Given the description of an element on the screen output the (x, y) to click on. 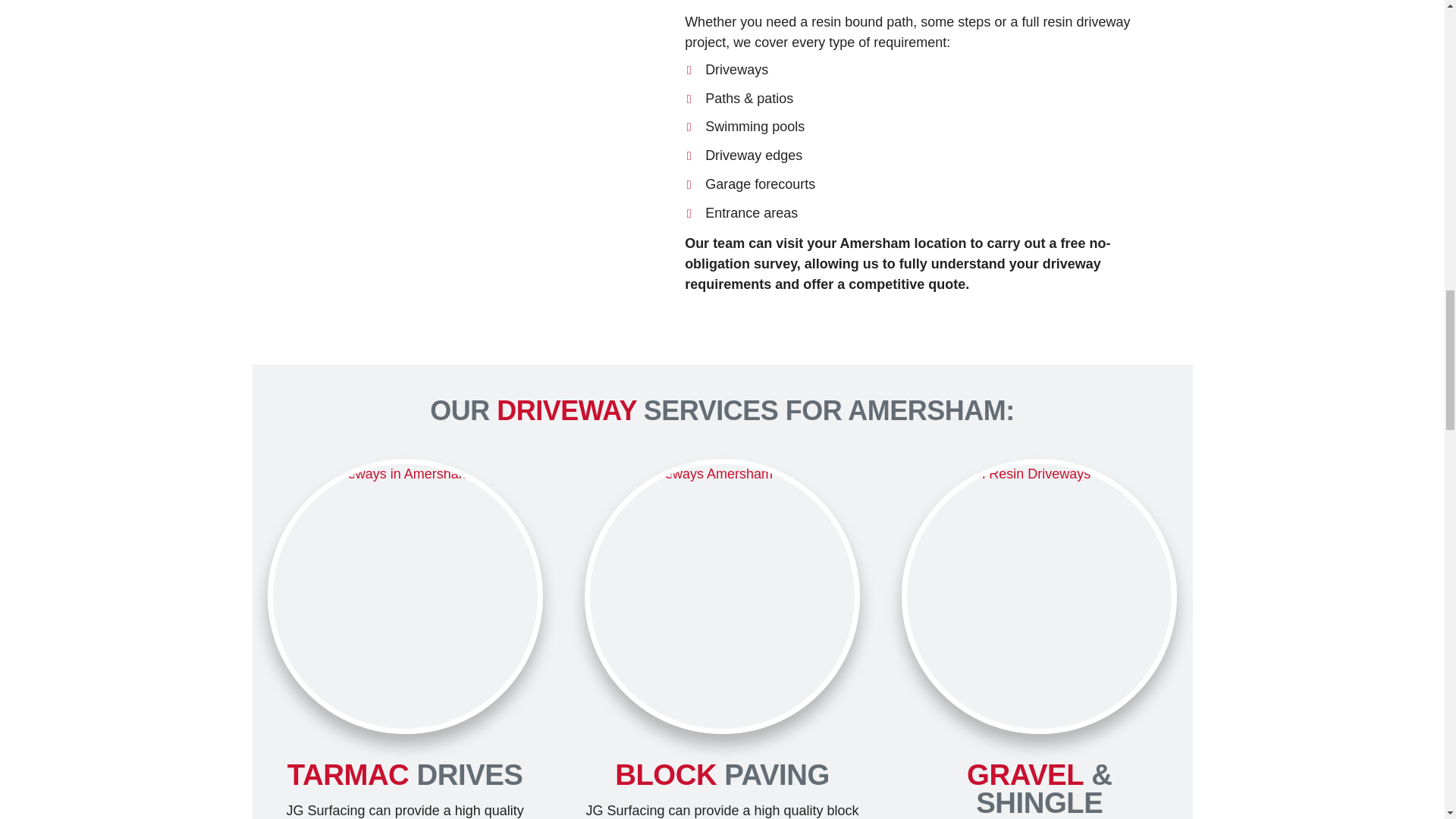
Block Paving (721, 596)
Tarmac Drives (405, 596)
